Given the description of an element on the screen output the (x, y) to click on. 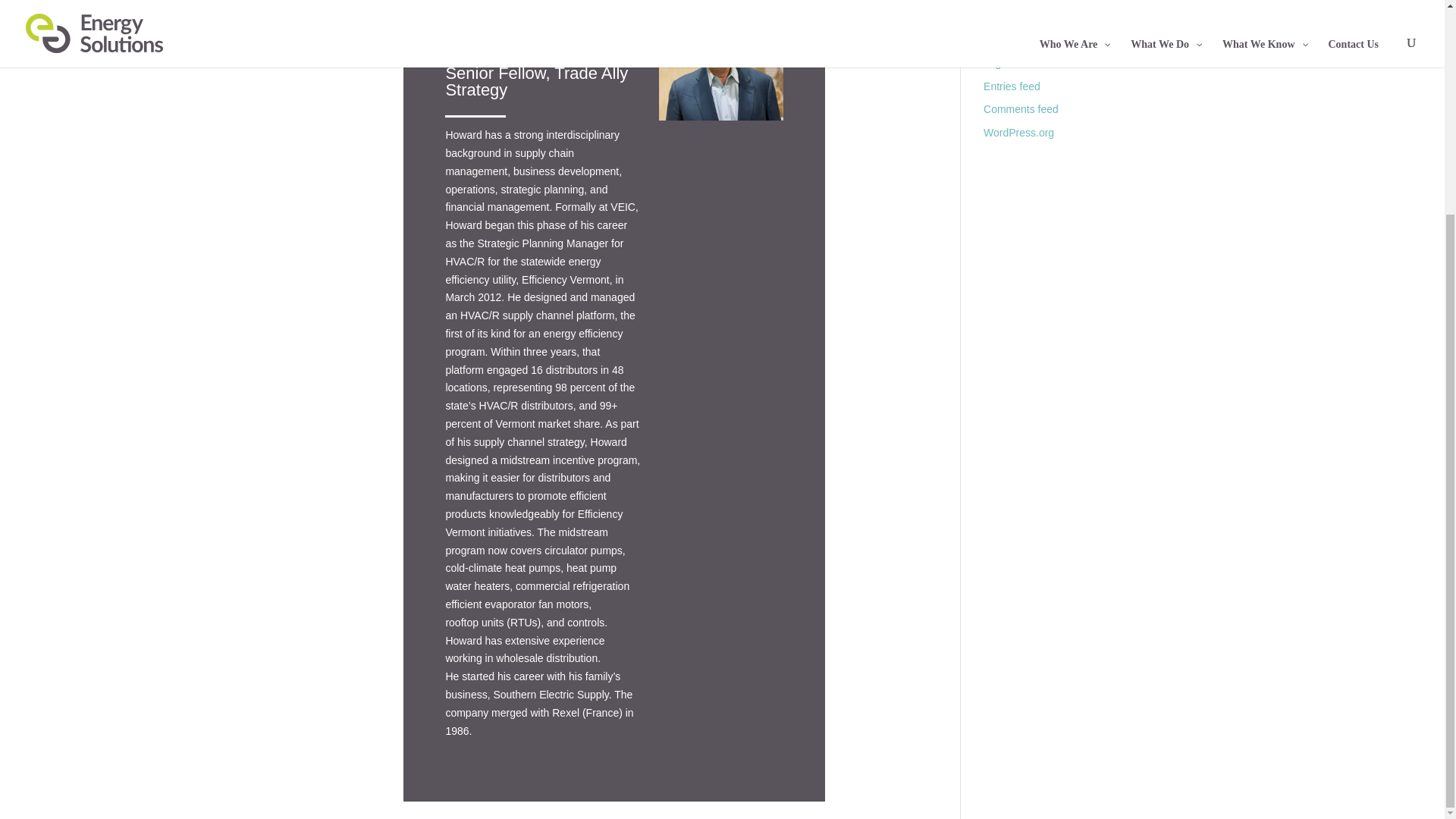
Comments feed (1021, 109)
Entries feed (1012, 86)
WordPress.org (1019, 132)
Log in (997, 62)
